Given the description of an element on the screen output the (x, y) to click on. 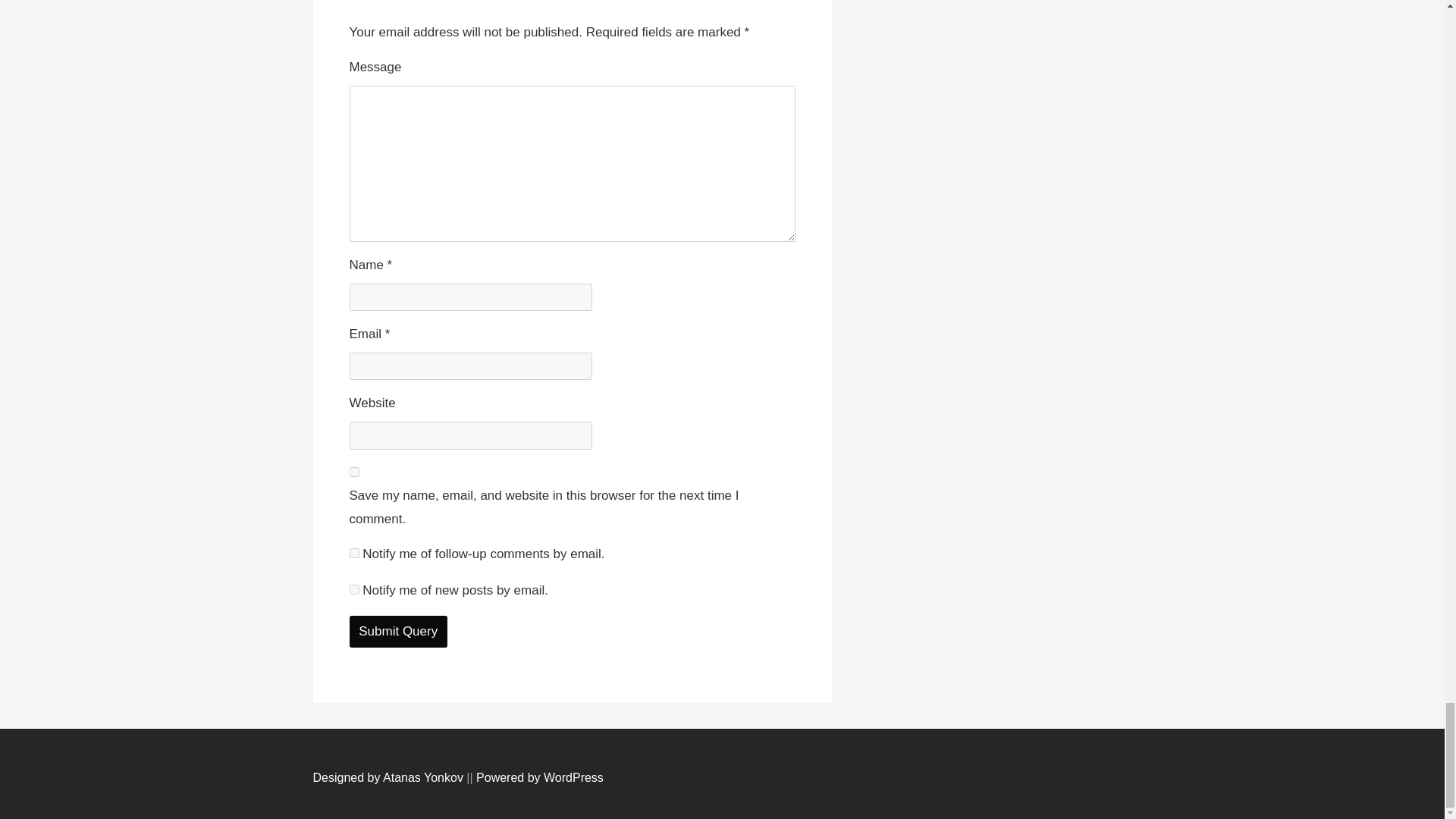
subscribe (353, 552)
subscribe (353, 589)
Submit Query (397, 631)
yes (353, 471)
Submit Query (397, 631)
